Given the description of an element on the screen output the (x, y) to click on. 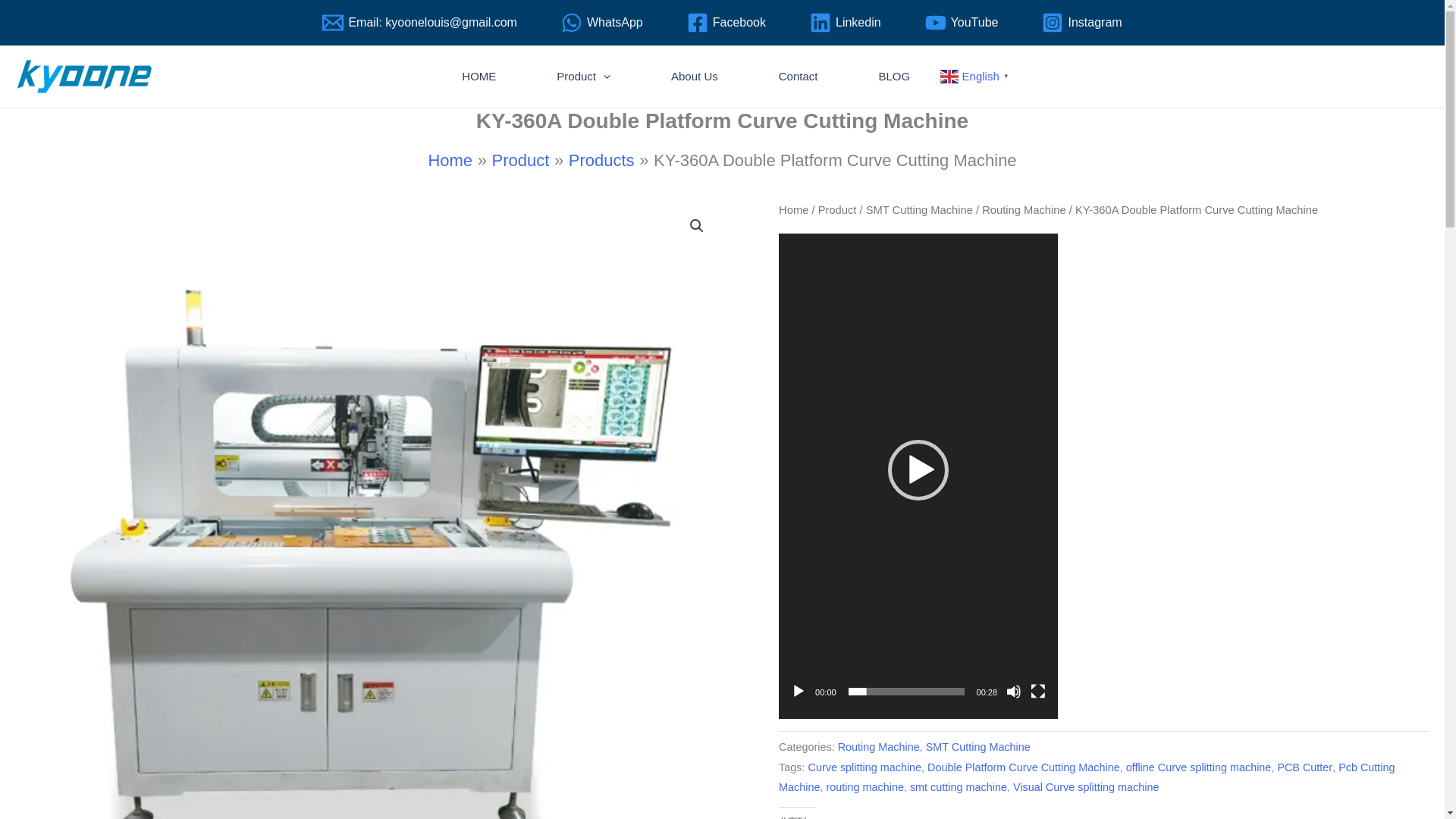
Play (798, 691)
Mute (1014, 691)
About Us (694, 76)
Linkedin (844, 22)
Product (582, 76)
Instagram (1081, 22)
Contact (798, 76)
Facebook (726, 22)
HOME (477, 76)
WhatsApp (601, 22)
